Given the description of an element on the screen output the (x, y) to click on. 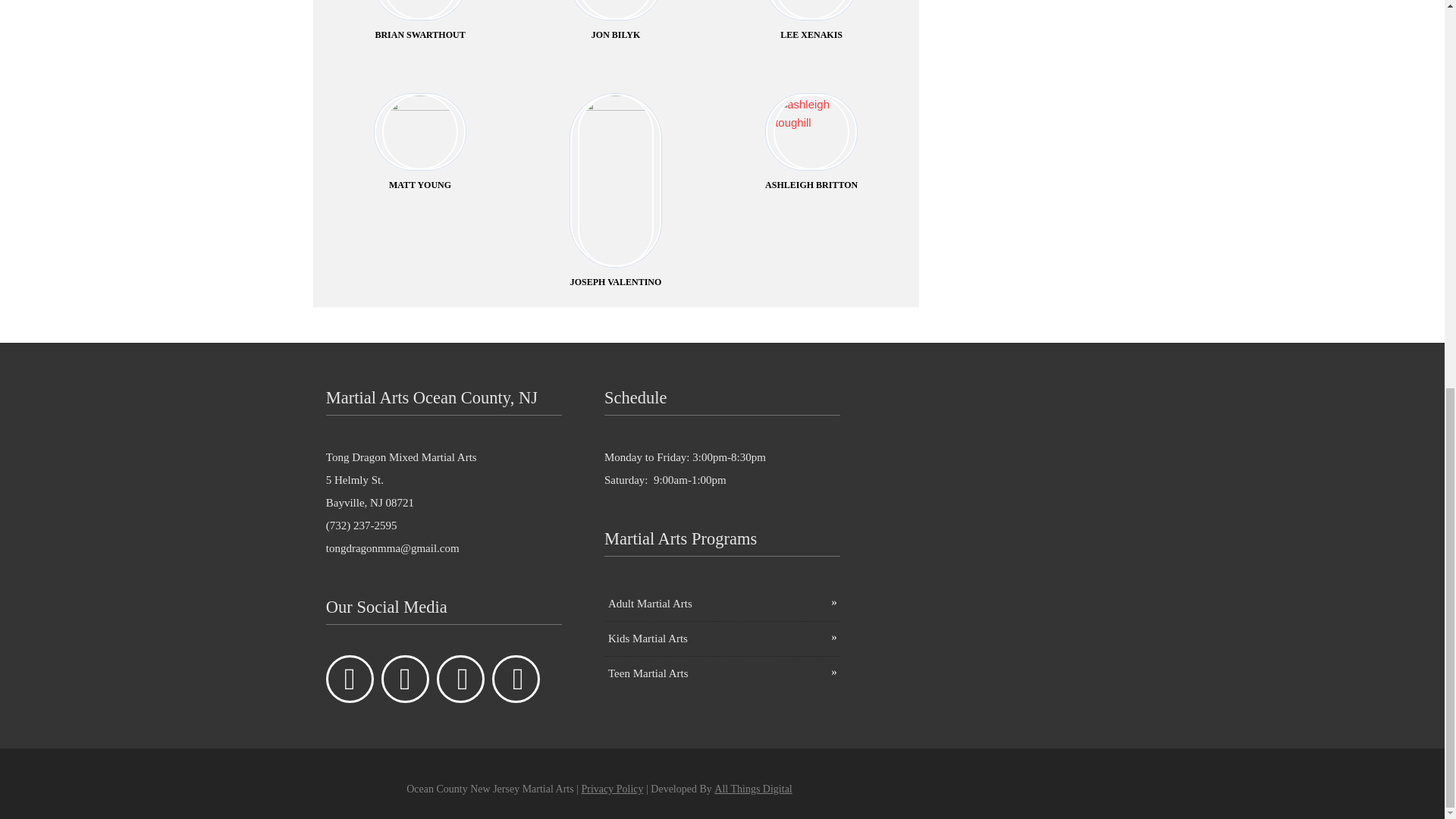
JON BILYK (615, 29)
MATT YOUNG (419, 143)
BRIAN SWARTHOUT (419, 29)
jon (615, 9)
matt-young-small (420, 131)
brian (420, 9)
ASHLEIGH BRITTON (811, 143)
LEE XENAKIS (811, 29)
lee-xenakis-SMALL (810, 9)
